Given the description of an element on the screen output the (x, y) to click on. 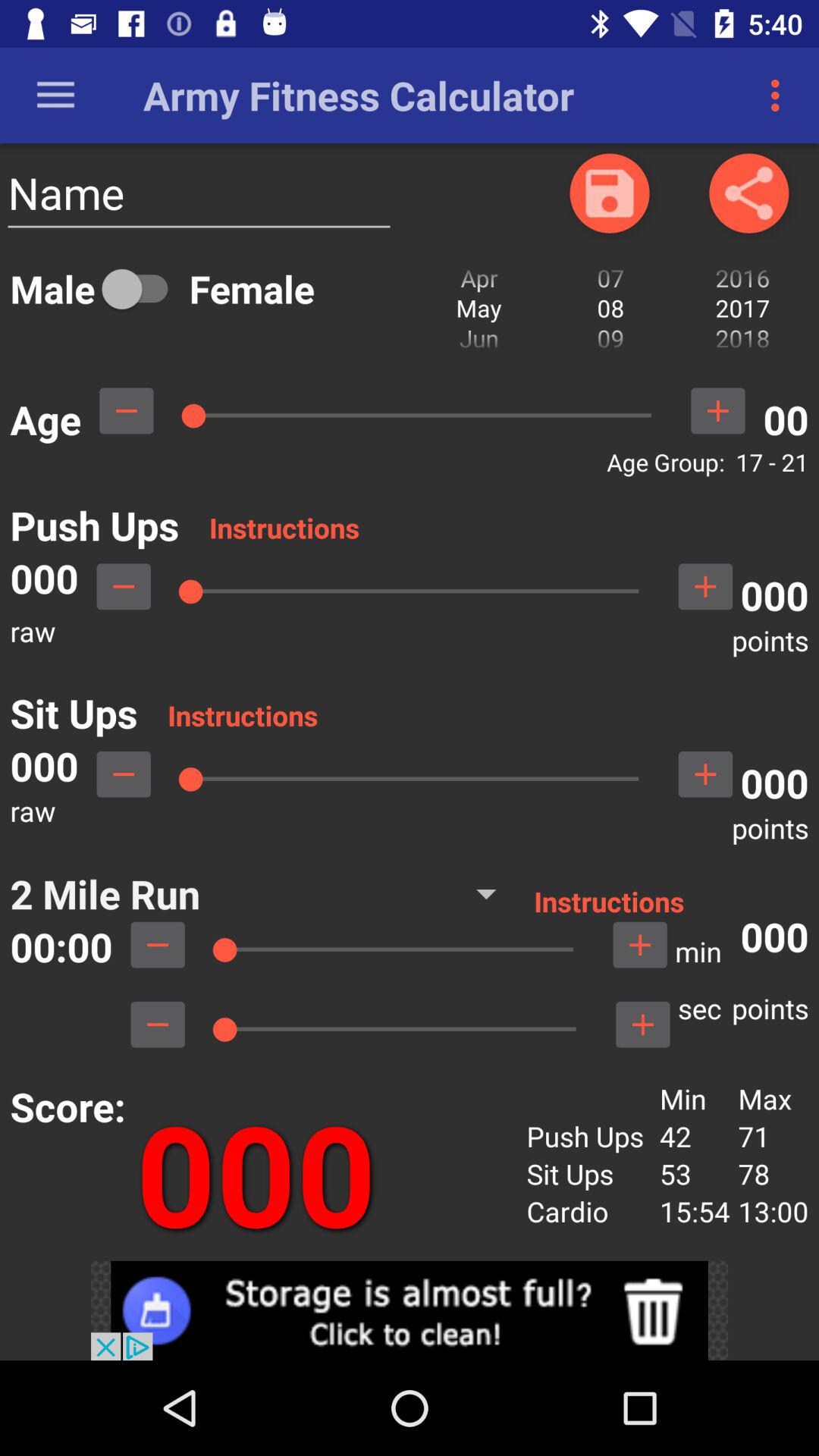
select sit ups (123, 774)
